Given the description of an element on the screen output the (x, y) to click on. 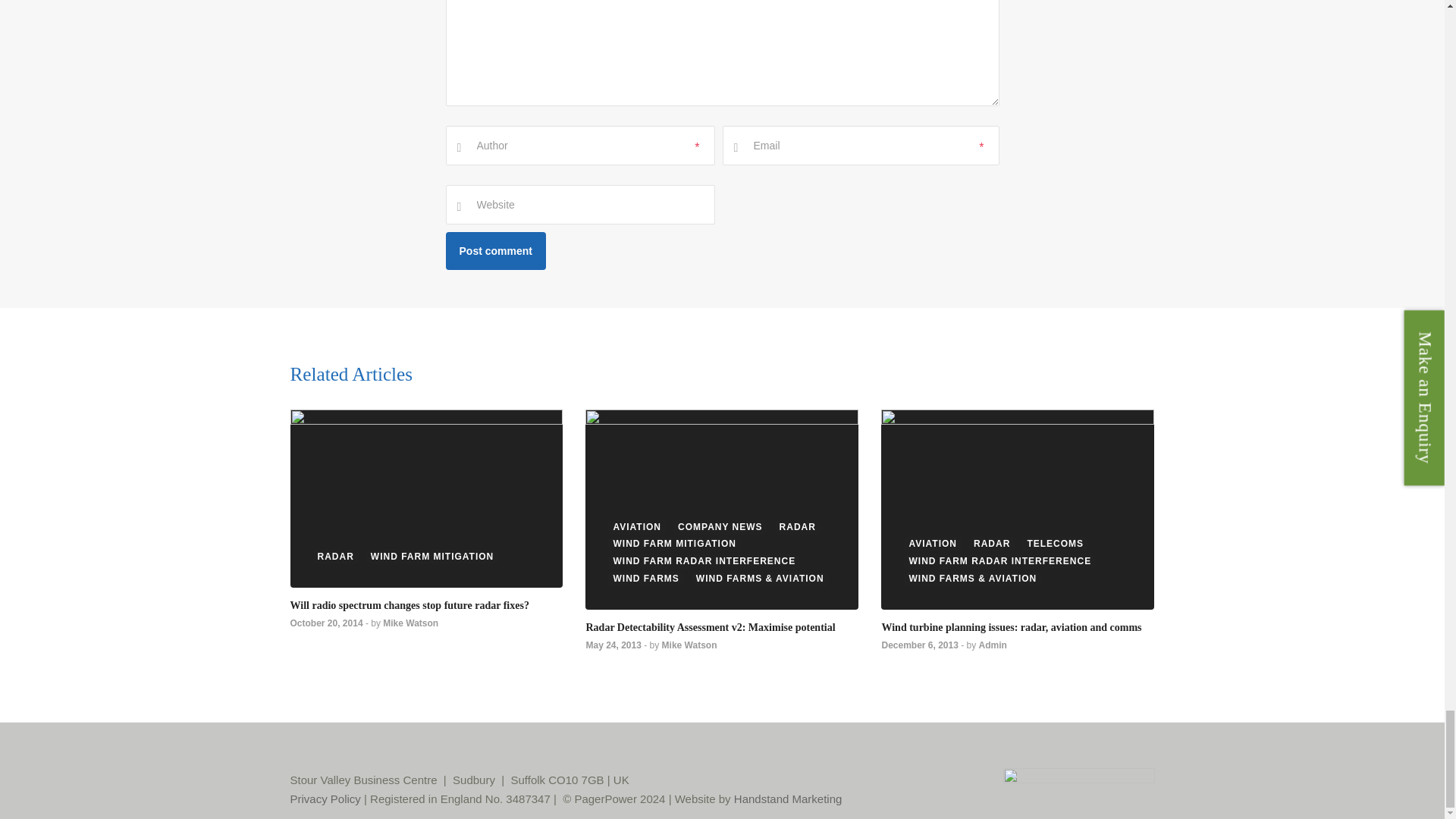
Post comment (495, 250)
